Given the description of an element on the screen output the (x, y) to click on. 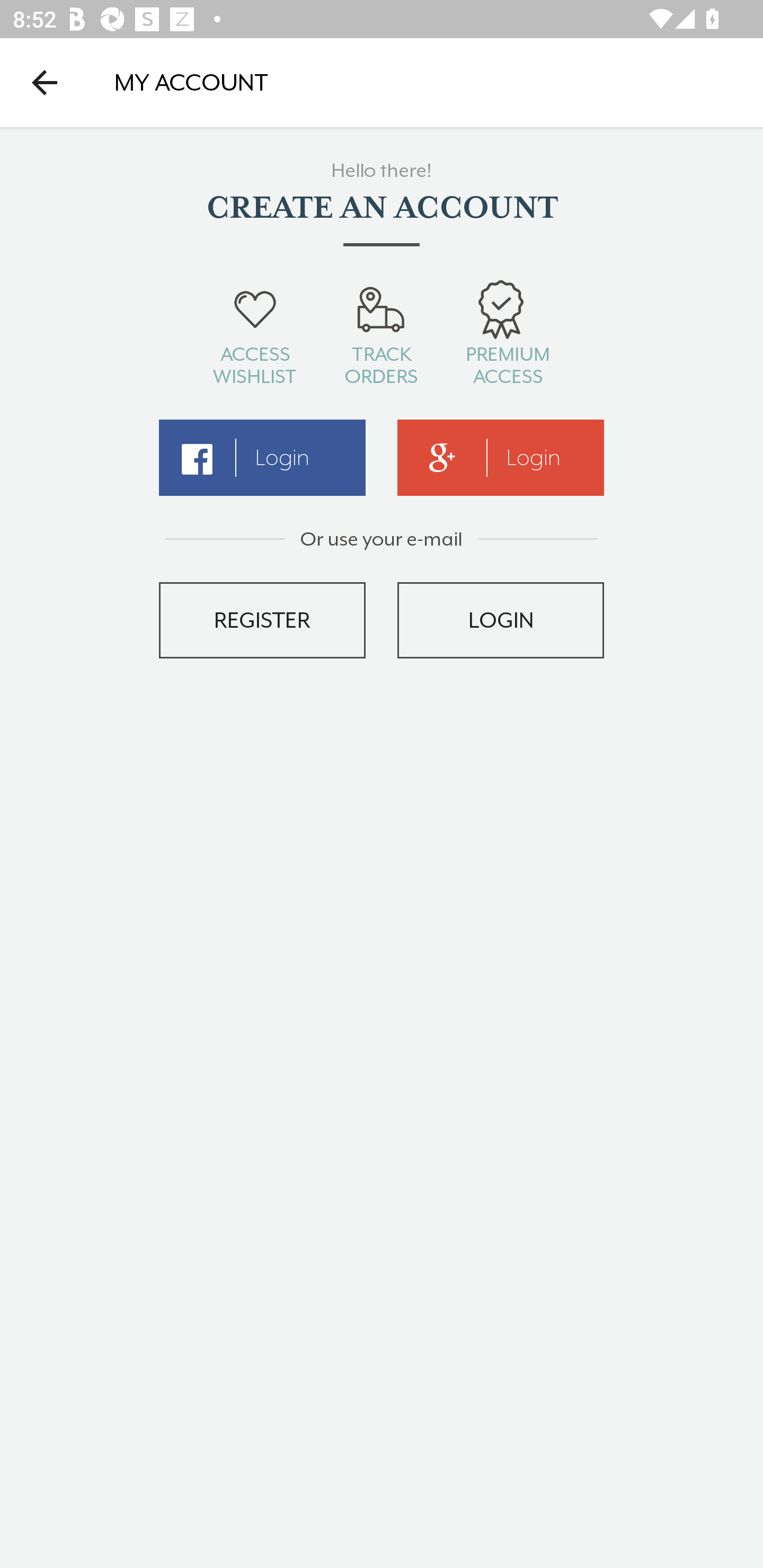
Navigate up (44, 82)
 Login (261, 457)
Login (500, 457)
REGISTER (261, 619)
LOGIN (500, 619)
